Given the description of an element on the screen output the (x, y) to click on. 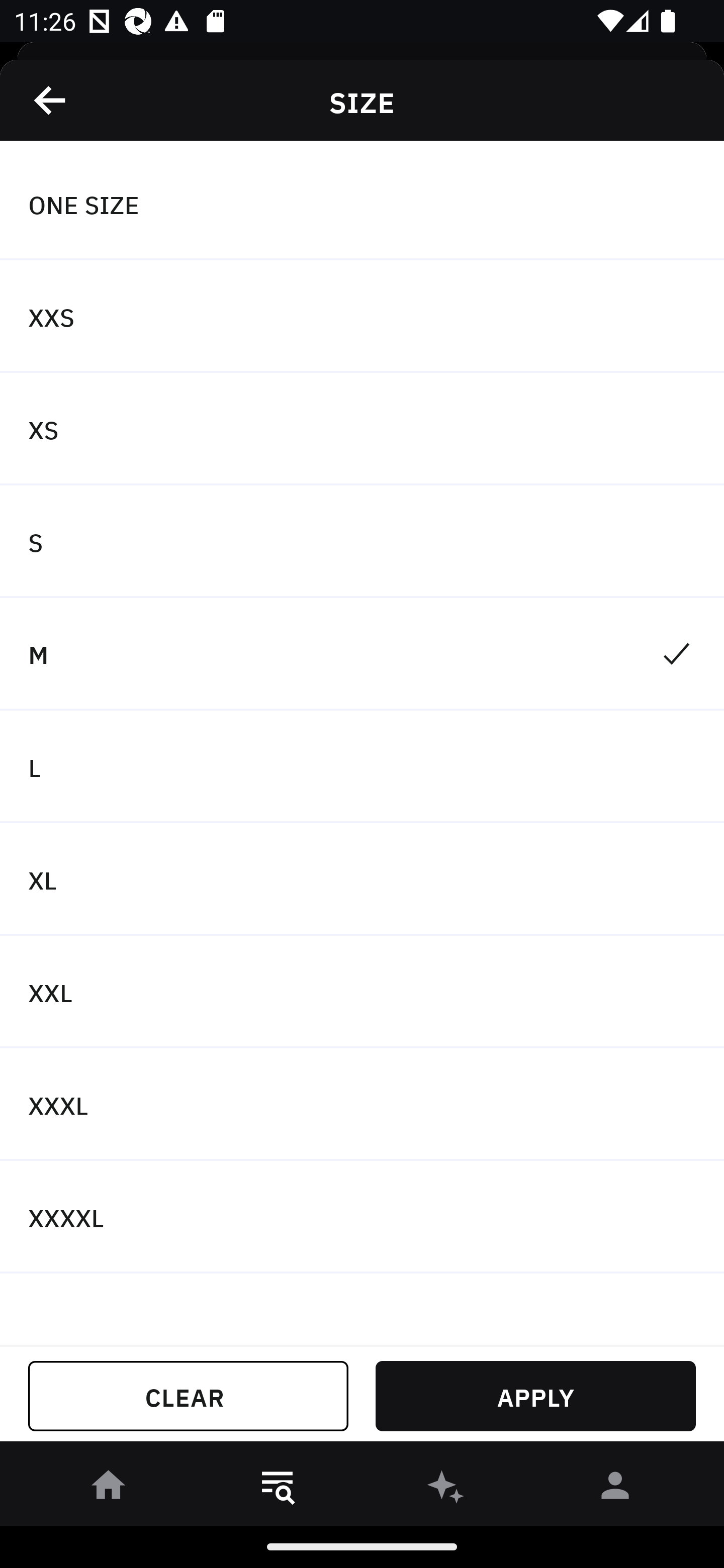
 (50, 100)
ONE SIZE (362, 203)
XXS (362, 316)
XS (362, 429)
S (362, 541)
M  (362, 653)
L (362, 766)
XL (362, 879)
XXL (362, 992)
XXXL (362, 1104)
XXXXL (362, 1216)
CLEAR  (188, 1396)
APPLY (535, 1396)
󰋜 (108, 1488)
󱎸 (277, 1488)
󰫢 (446, 1488)
󰀄 (615, 1488)
